Given the description of an element on the screen output the (x, y) to click on. 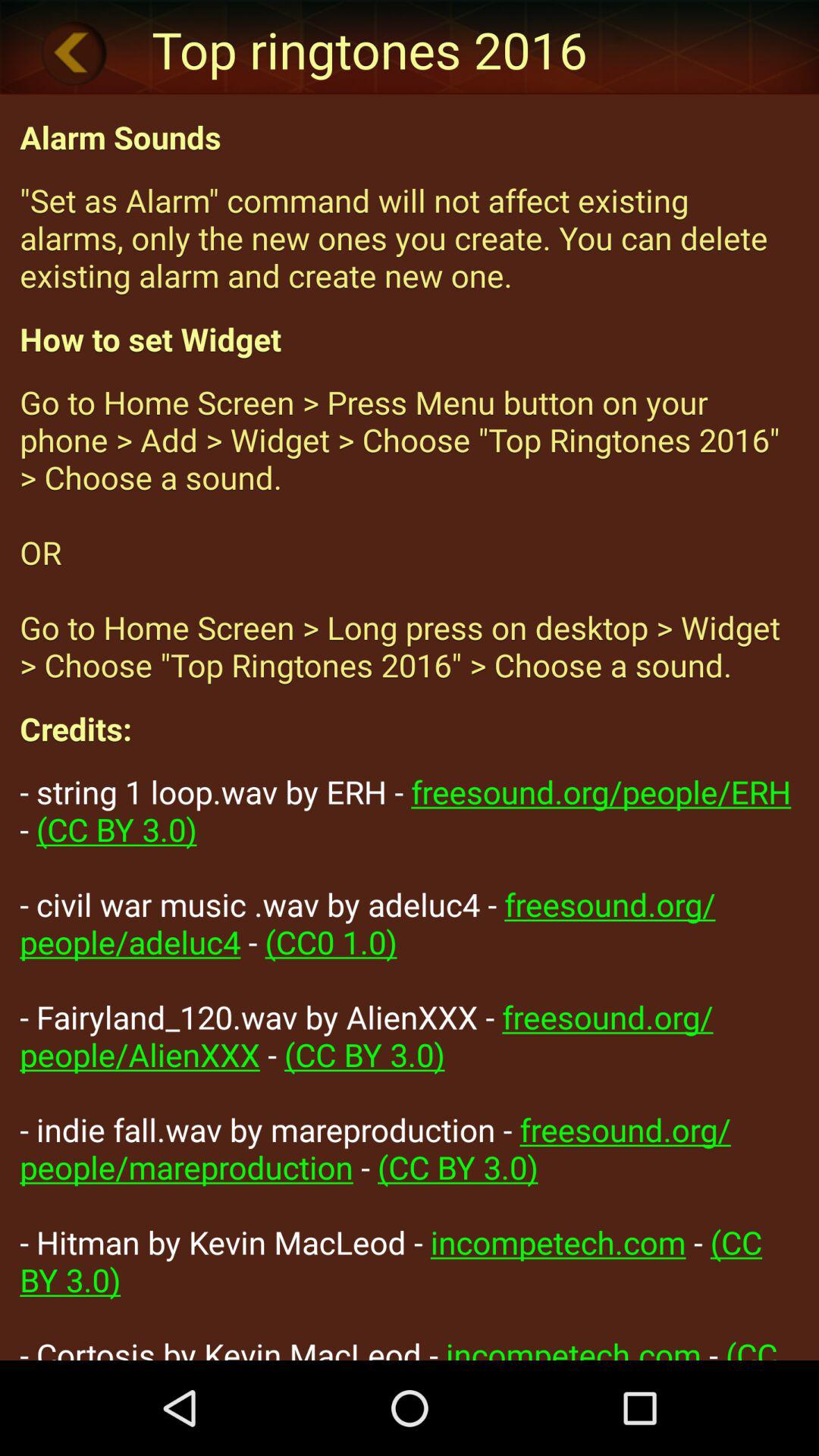
open item at the bottom (409, 1065)
